Given the description of an element on the screen output the (x, y) to click on. 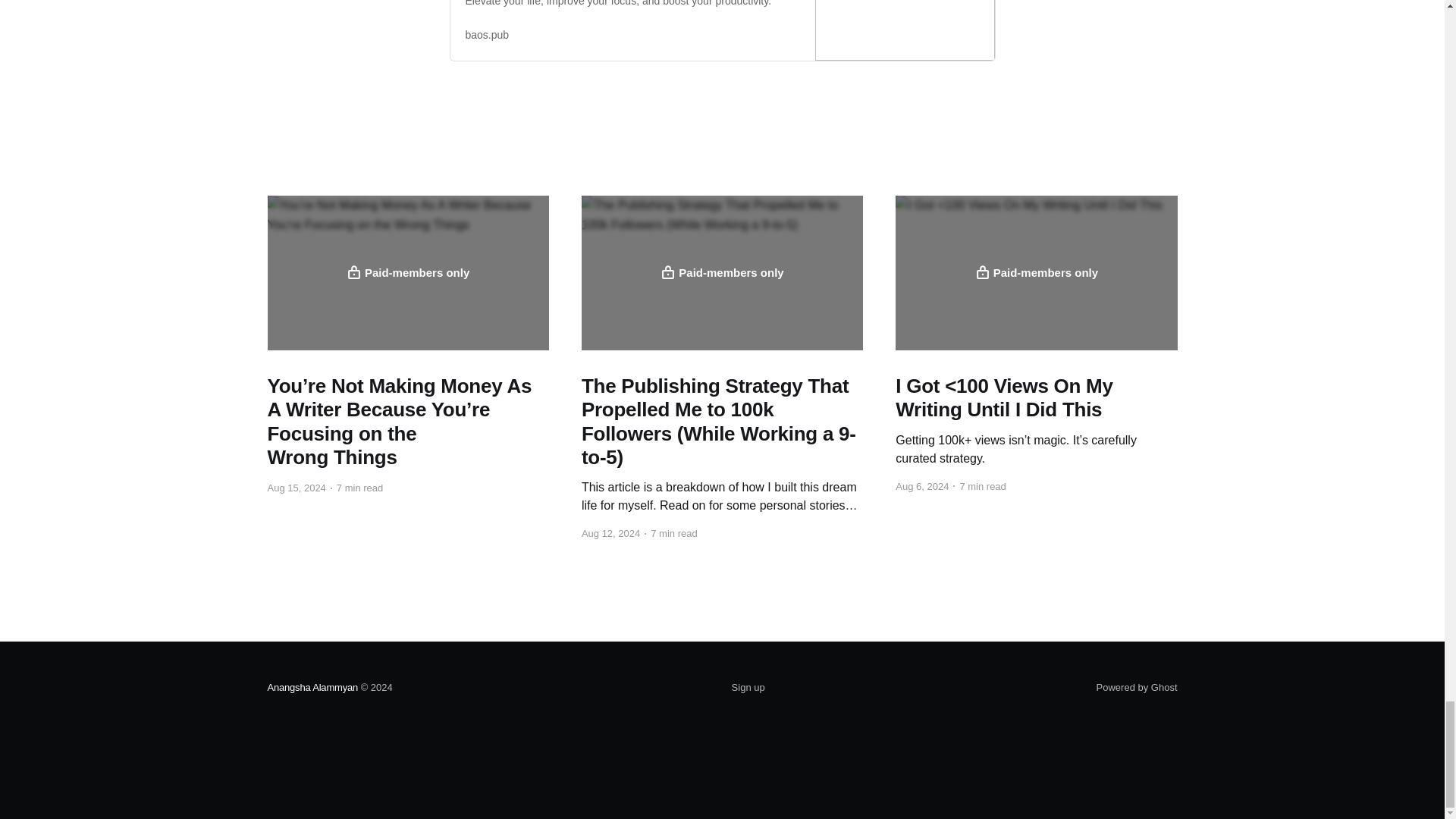
Anangsha Alammyan (312, 686)
Paid-members only (407, 272)
Paid-members only (1035, 272)
Powered by Ghost (1136, 686)
Paid-members only (721, 272)
Sign up (748, 687)
